Given the description of an element on the screen output the (x, y) to click on. 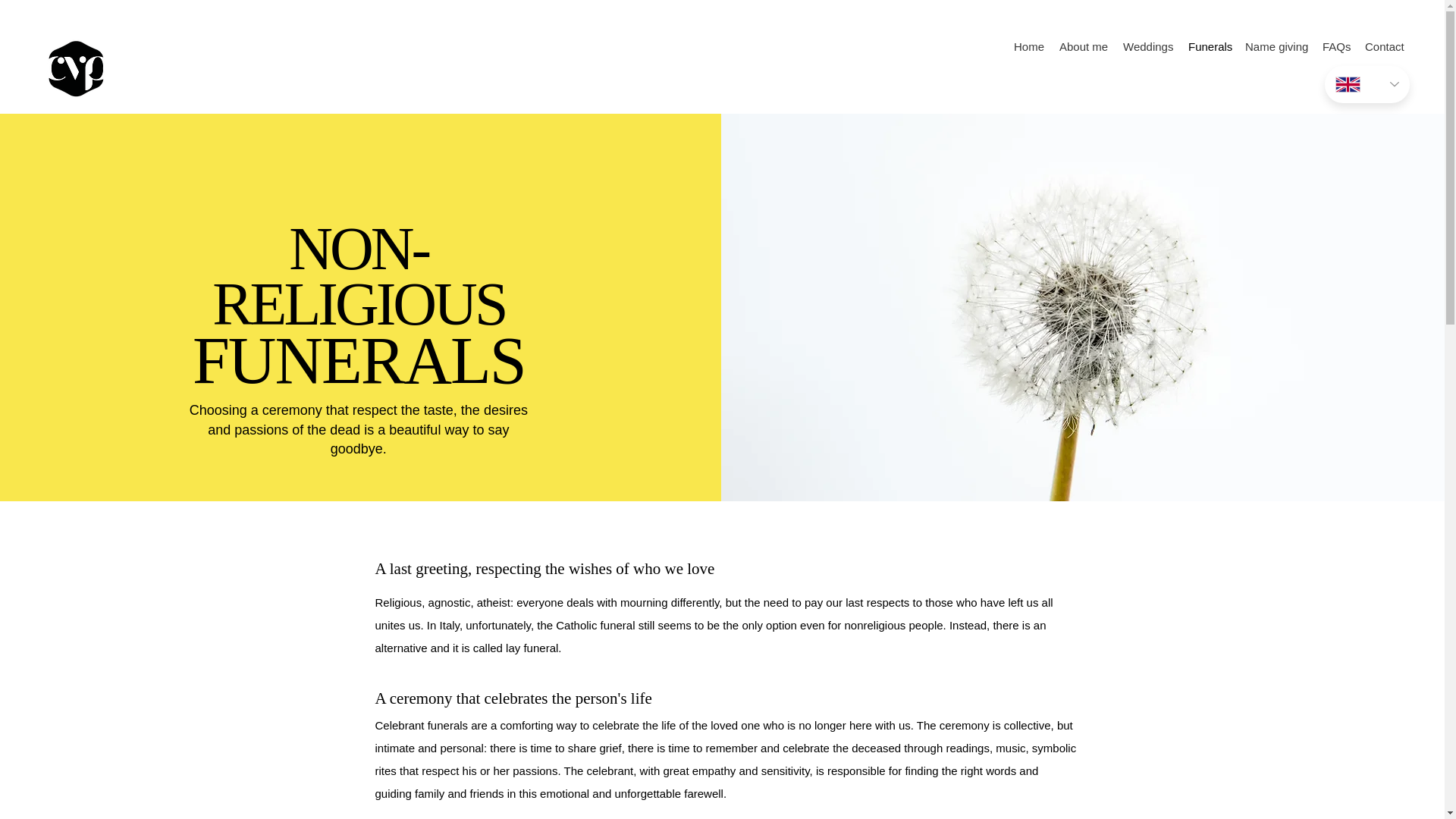
Funerals (1209, 46)
About me (1083, 46)
Weddings (1147, 46)
Contact (1384, 46)
Name giving (1275, 46)
